Given the description of an element on the screen output the (x, y) to click on. 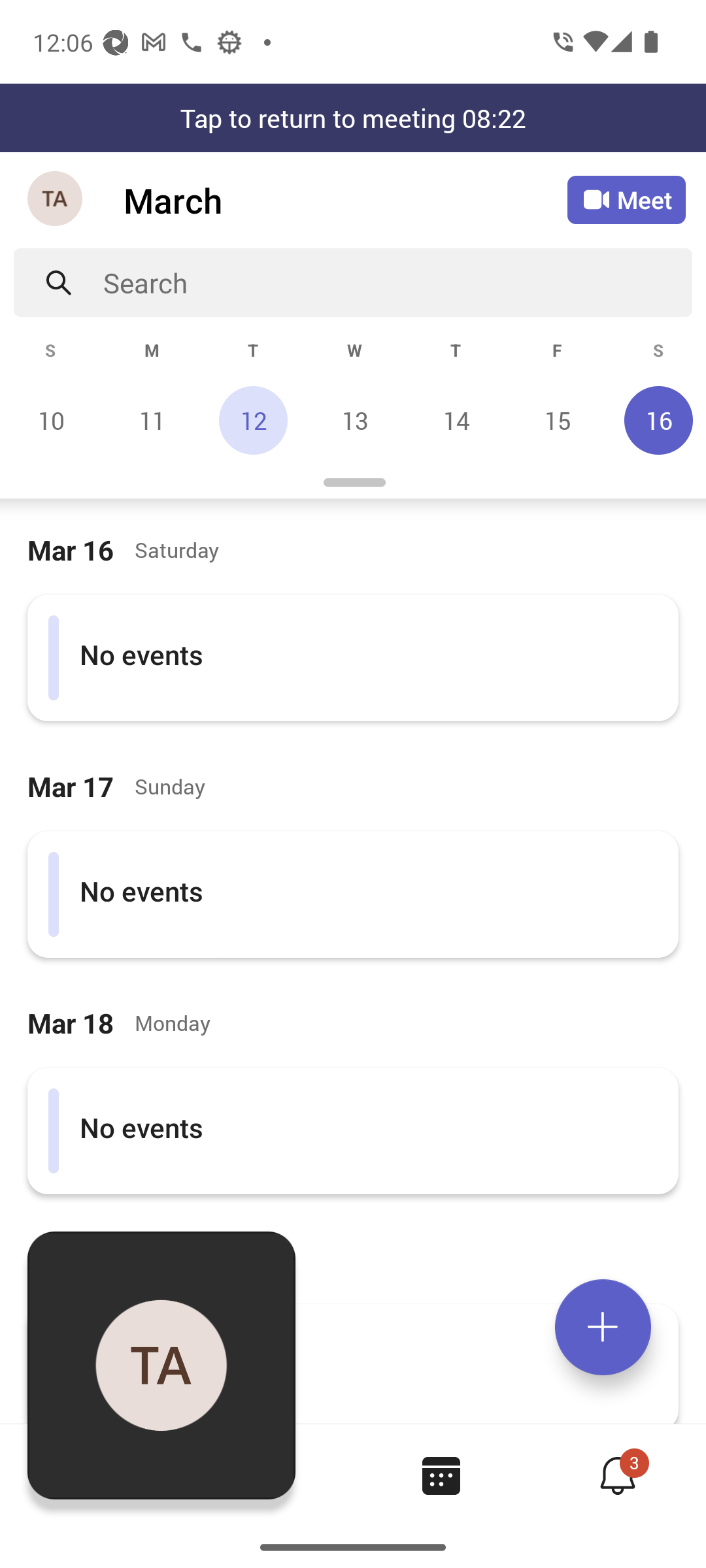
Tap to return to meeting 08:22 (353, 117)
Navigation (56, 199)
Meet Meet now or join with an ID (626, 199)
Search (397, 281)
Sunday, March 10 10 (50, 420)
Monday, March 11 11 (151, 420)
Tuesday, March 12, Today 12 (253, 420)
Wednesday, March 13 13 (354, 420)
Thursday, March 14 14 (455, 420)
Friday, March 15 15 (556, 420)
Saturday, March 16, Selected 16 (656, 420)
Expand meetings menu (602, 1327)
Calendar tab, 3 of 4 (441, 1475)
Activity tab,4 of 4, not selected, 3 new 3 (617, 1475)
